Given the description of an element on the screen output the (x, y) to click on. 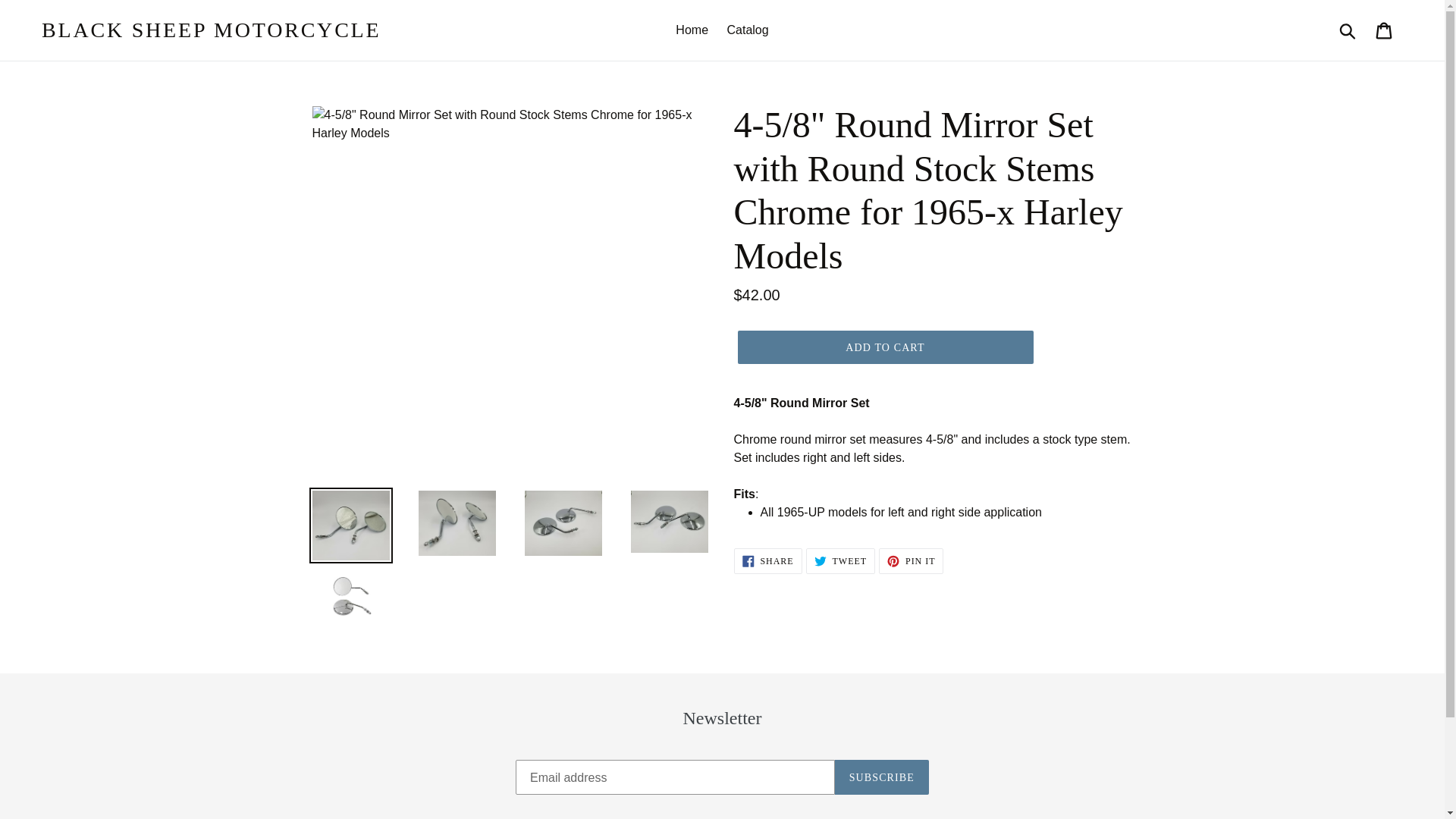
BLACK SHEEP MOTORCYCLE (211, 30)
ADD TO CART (884, 346)
SUBSCRIBE (767, 560)
Catalog (881, 777)
Submit (747, 29)
Home (1348, 29)
Cart (692, 29)
